Given the description of an element on the screen output the (x, y) to click on. 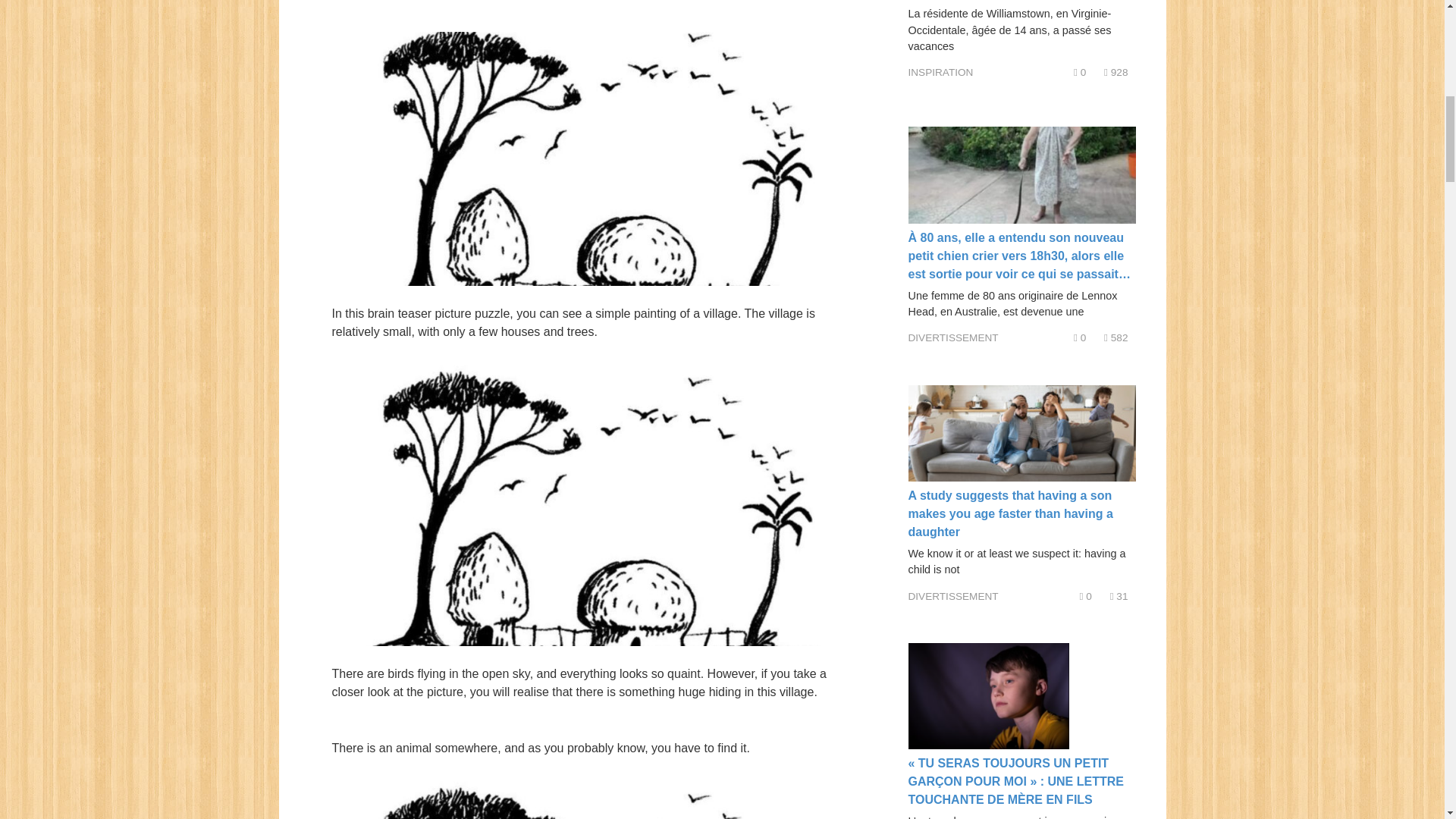
DIVERTISSEMENT (953, 337)
DIVERTISSEMENT (953, 595)
INSPIRATION (941, 71)
